Given the description of an element on the screen output the (x, y) to click on. 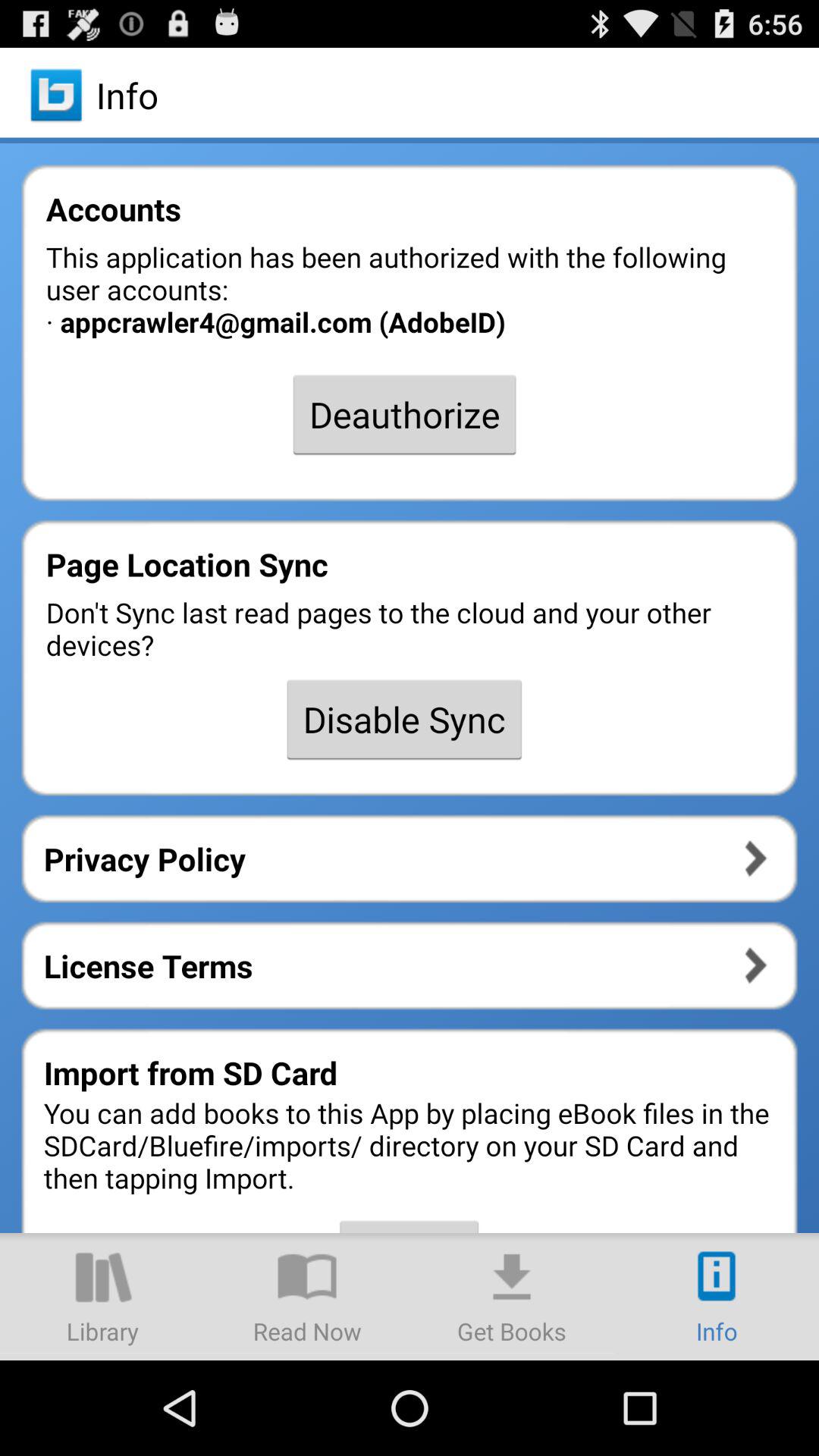
press the deauthorize button (404, 414)
